Given the description of an element on the screen output the (x, y) to click on. 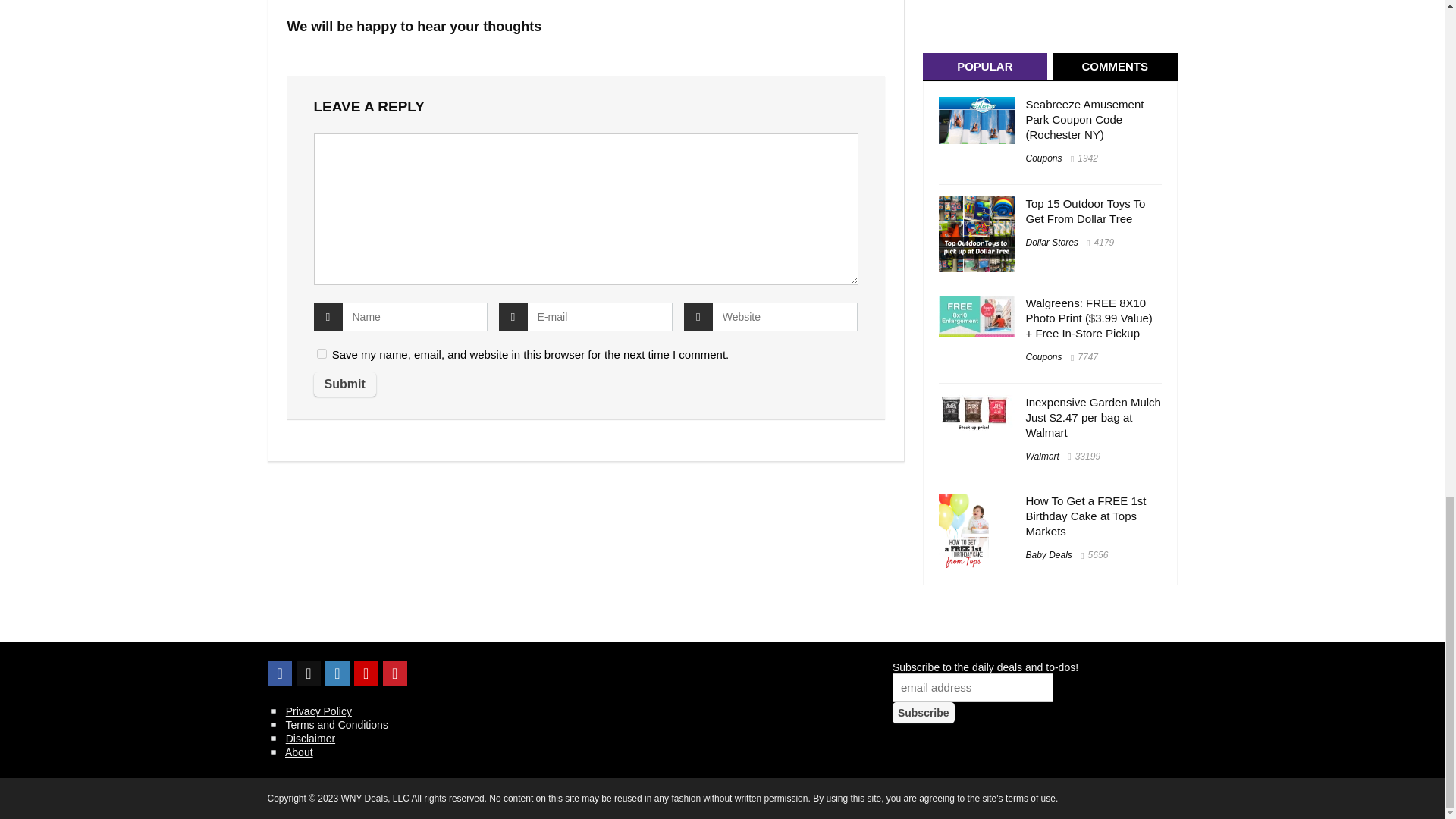
Submit (344, 384)
yes (321, 353)
Subscribe (923, 712)
